Given the description of an element on the screen output the (x, y) to click on. 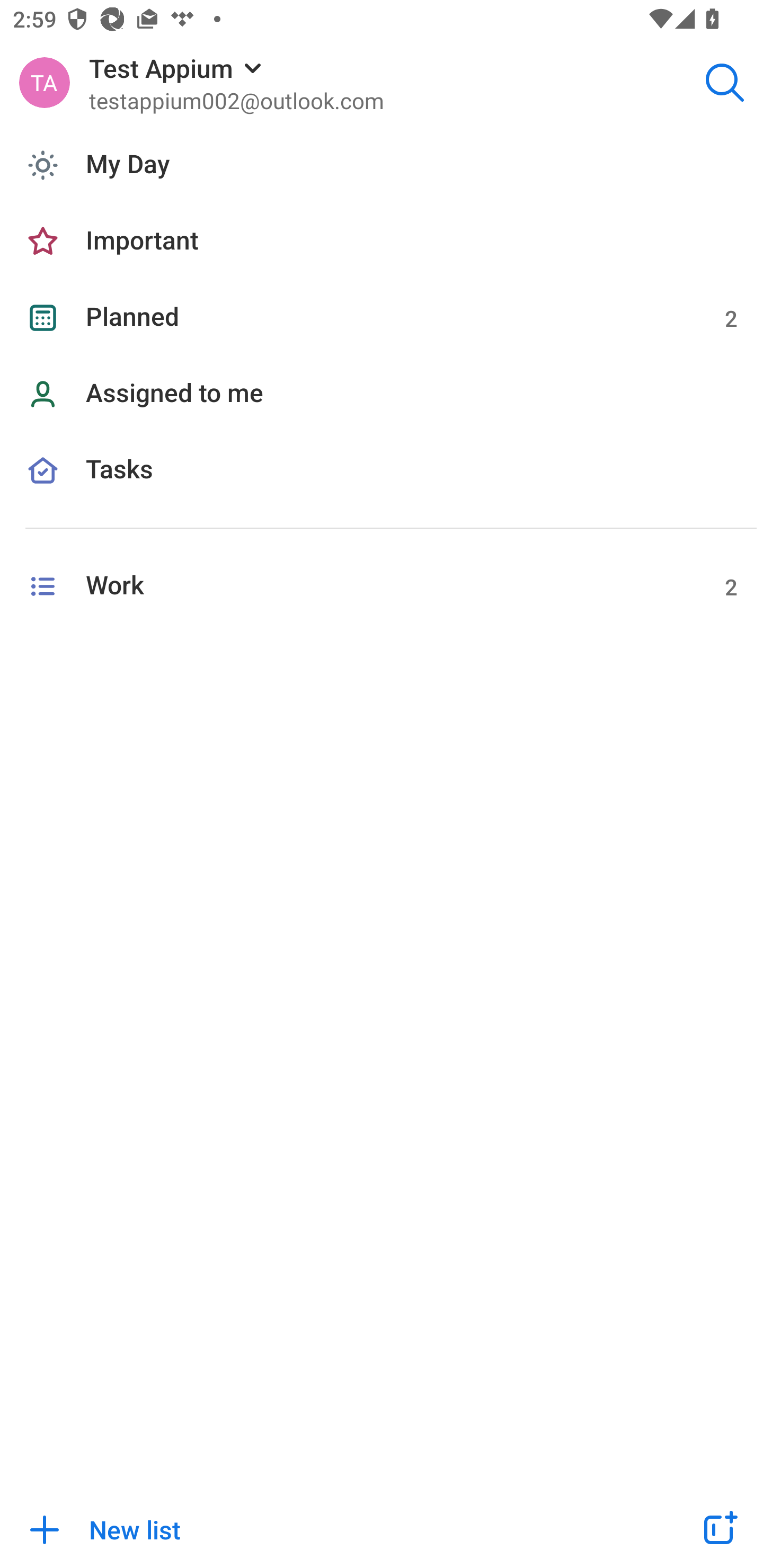
Work, 2 tasks Work 2 (381, 586)
